Given the description of an element on the screen output the (x, y) to click on. 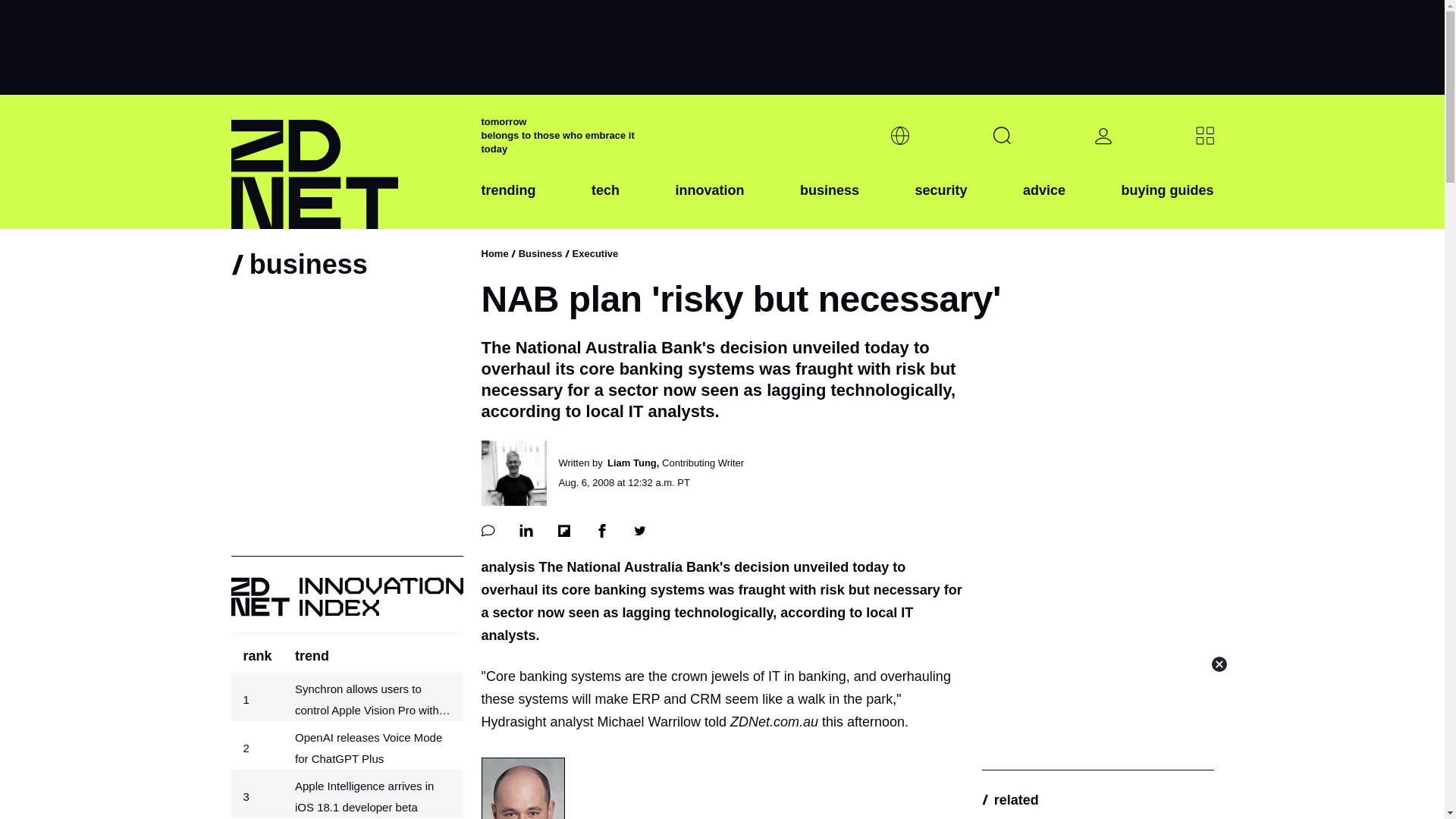
trending (507, 202)
ZDNET (346, 162)
